Given the description of an element on the screen output the (x, y) to click on. 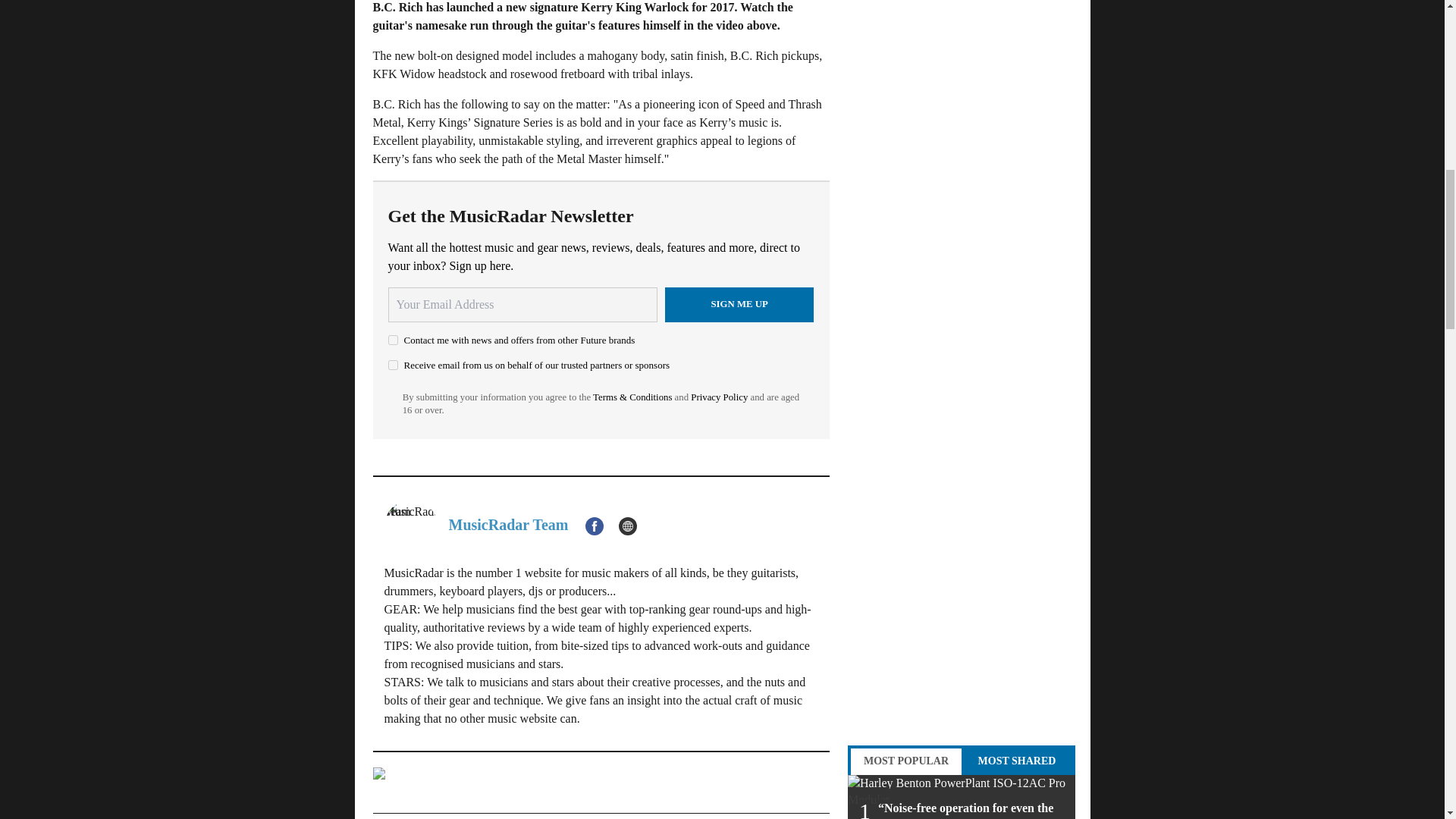
Sign me up (739, 304)
on (392, 339)
on (392, 365)
